Given the description of an element on the screen output the (x, y) to click on. 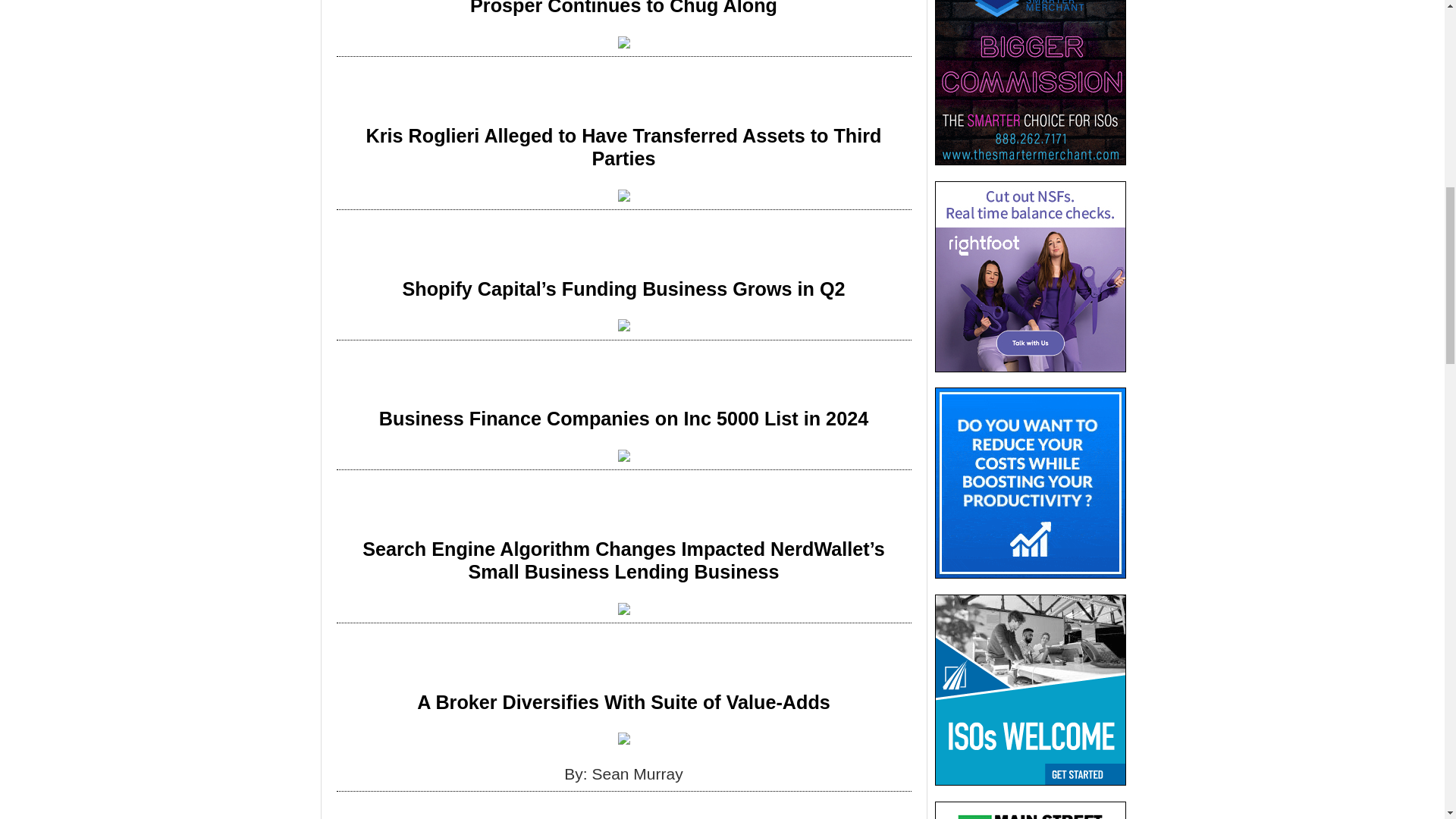
Main Street Finance Group (1029, 810)
Better Accounting Solutions (1029, 482)
The Smarter Merchant (1029, 82)
Rightfoot (1029, 276)
CFG Merchant Solutions (1029, 689)
